Given the description of an element on the screen output the (x, y) to click on. 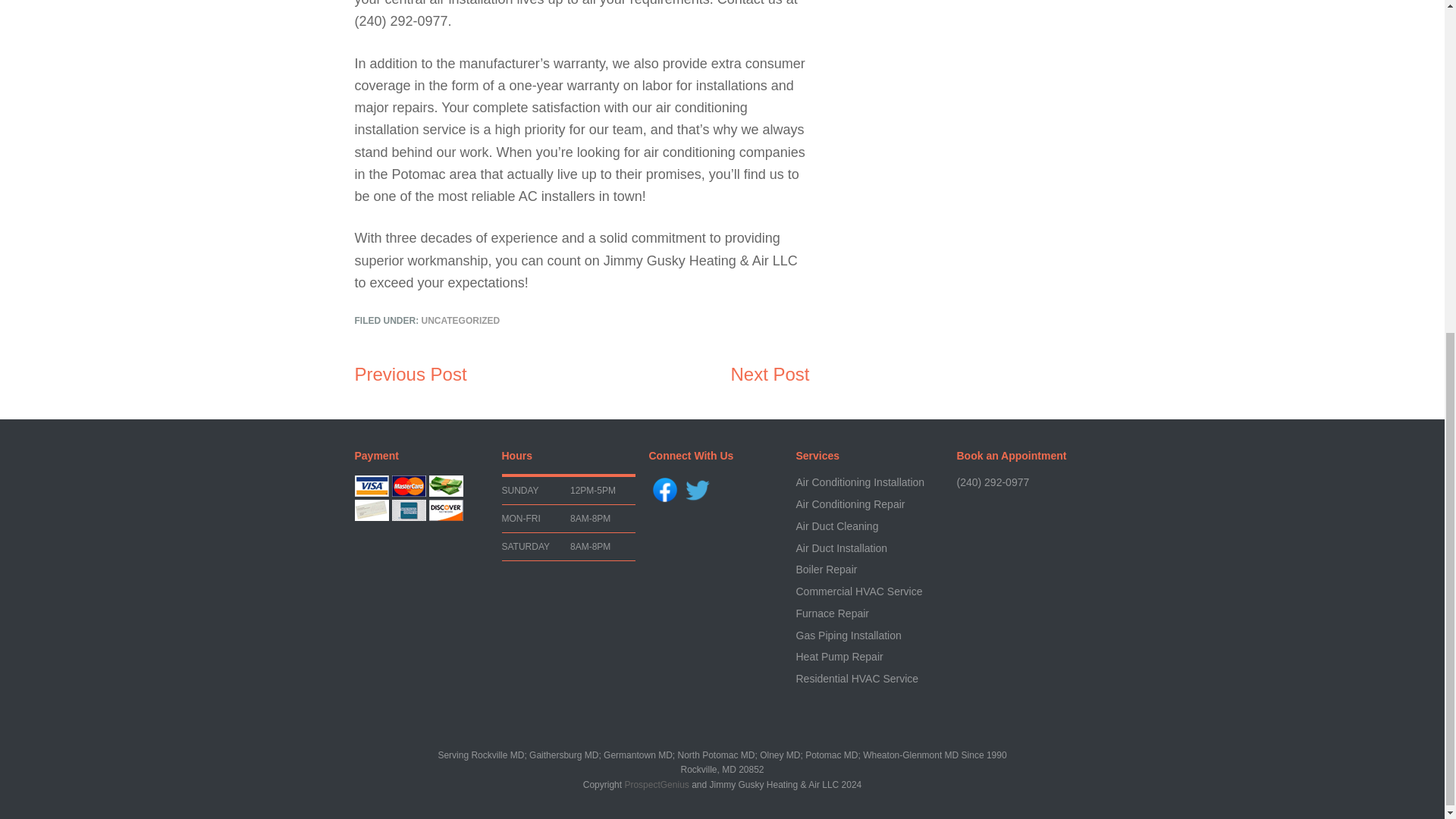
Next Post (769, 373)
Previous Post (411, 373)
Air Conditioning Repair (850, 503)
Furnace Repair (832, 613)
Gas Piping Installation (848, 635)
Commercial HVAC Service (859, 591)
ProspectGenius (656, 784)
Boiler Repair (826, 569)
Air Duct Cleaning (837, 526)
UNCATEGORIZED (461, 320)
Residential HVAC Service (857, 678)
Air Conditioning Installation (860, 481)
Heat Pump Repair (839, 656)
Air Conditioning Repair (850, 503)
Air Conditioning Installation (860, 481)
